Given the description of an element on the screen output the (x, y) to click on. 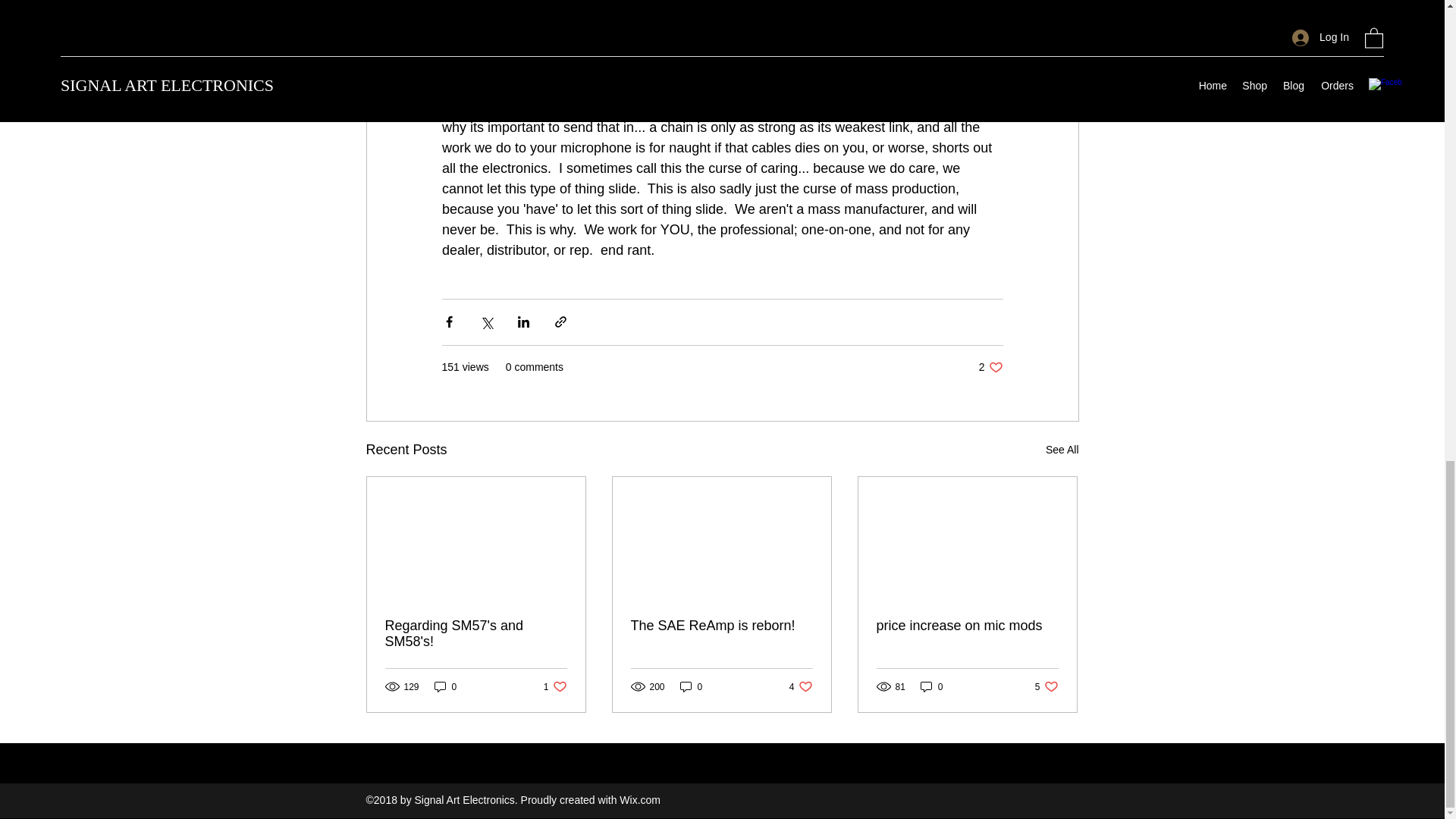
Regarding SM57's and SM58's! (1046, 686)
price increase on mic mods (476, 634)
0 (967, 625)
0 (691, 686)
The SAE ReAmp is reborn! (931, 686)
0 (990, 367)
See All (555, 686)
